Given the description of an element on the screen output the (x, y) to click on. 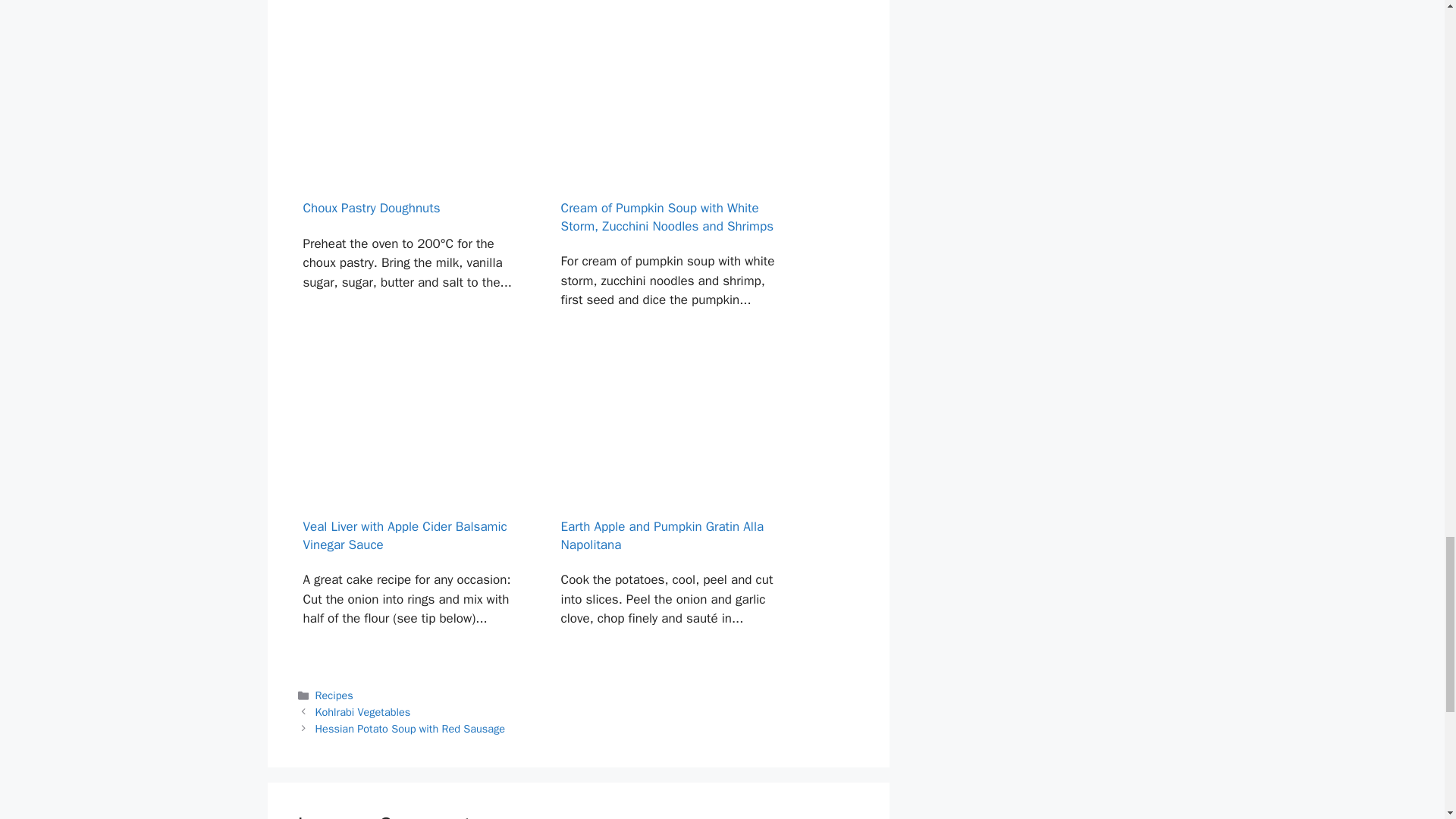
Hessian Potato Soup with Red Sausage (410, 728)
Recipes (334, 694)
Kohlrabi Vegetables (362, 712)
Cheese Sauce (414, 12)
Baked Pasta Snails (673, 12)
